Given the description of an element on the screen output the (x, y) to click on. 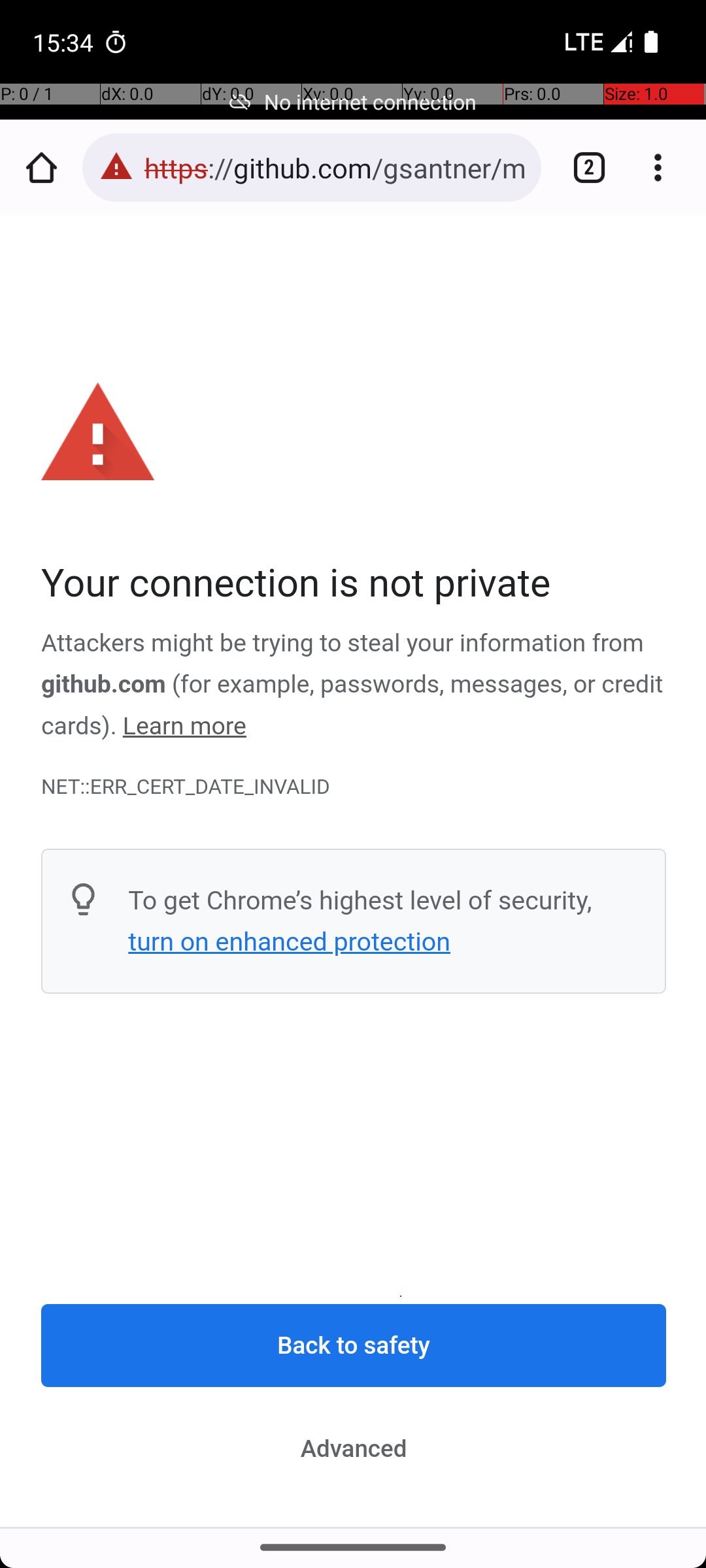
https://github.com/gsantner/markor/discussions Element type: android.widget.EditText (335, 167)
github.com Element type: android.widget.TextView (103, 684)
